Given the description of an element on the screen output the (x, y) to click on. 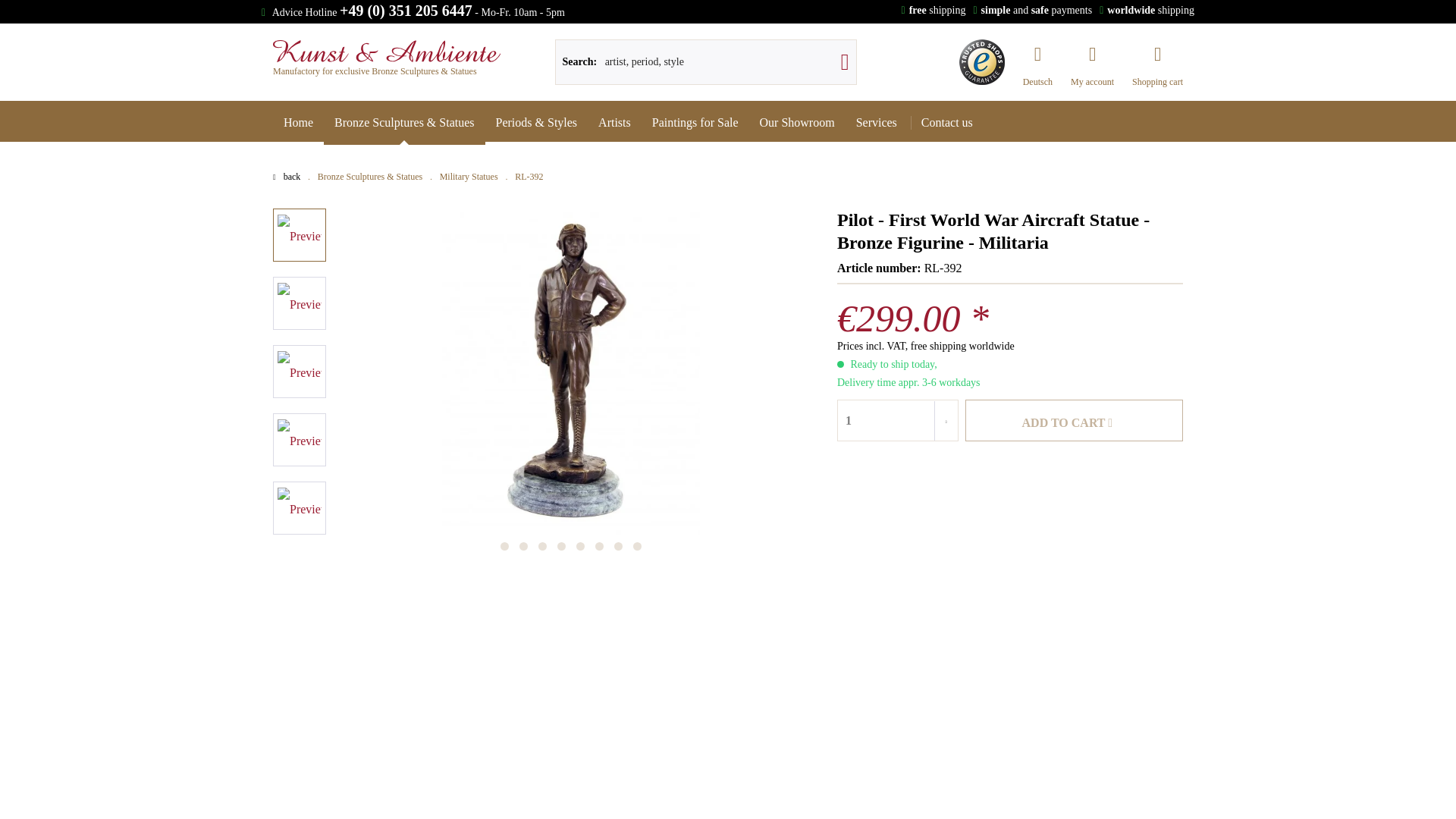
My account (1091, 54)
TrustedShop (981, 62)
Deutsch (1037, 54)
Our Showroom (797, 122)
Art Bronze Sculptures - Switch to homepage (386, 51)
Home (298, 122)
Paintings for Sale (695, 122)
Home (298, 122)
My account (1091, 54)
Contact us (947, 122)
